Given the description of an element on the screen output the (x, y) to click on. 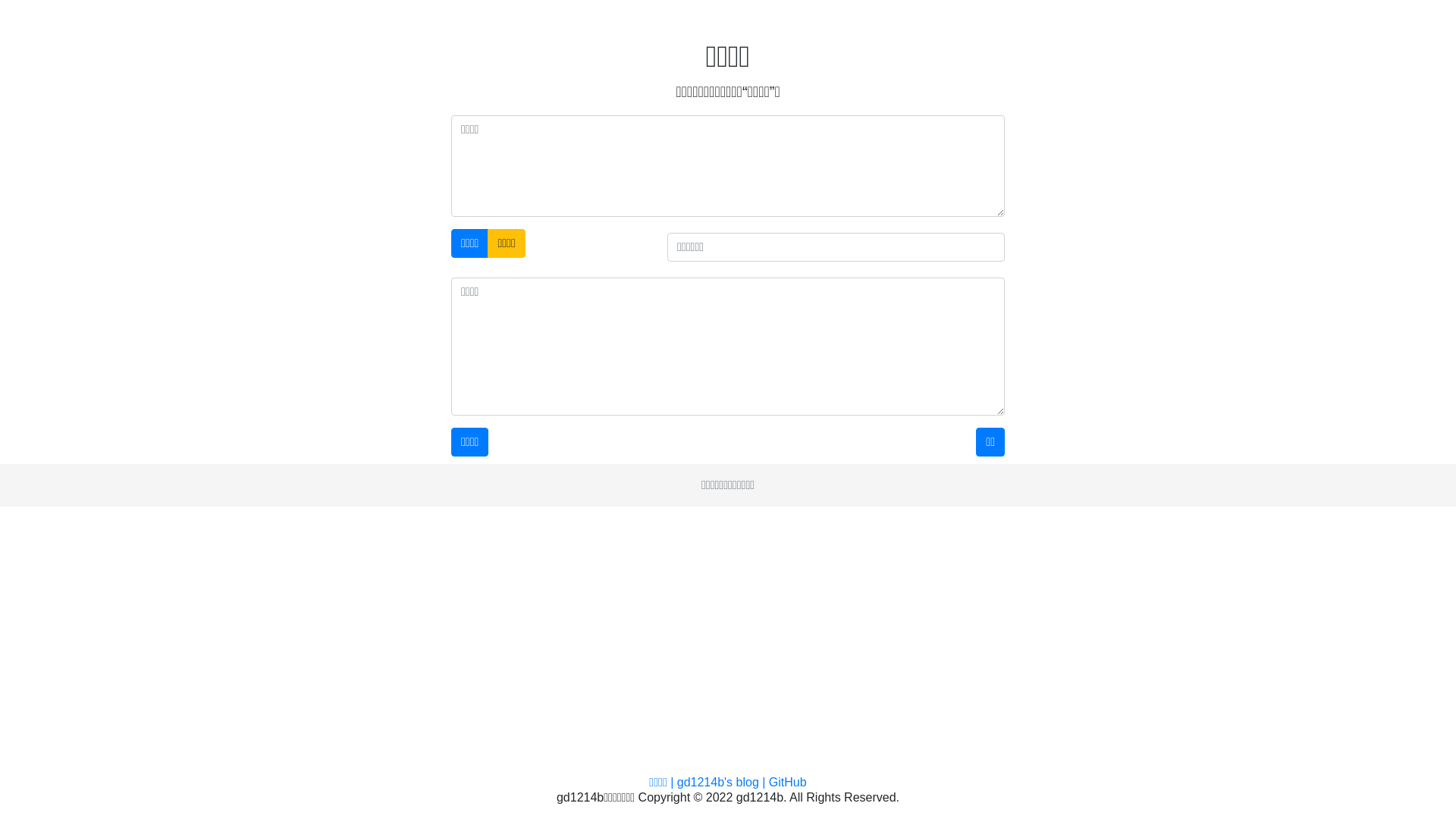
GitHub Element type: text (787, 781)
gd1214b's blog | Element type: text (722, 781)
